Given the description of an element on the screen output the (x, y) to click on. 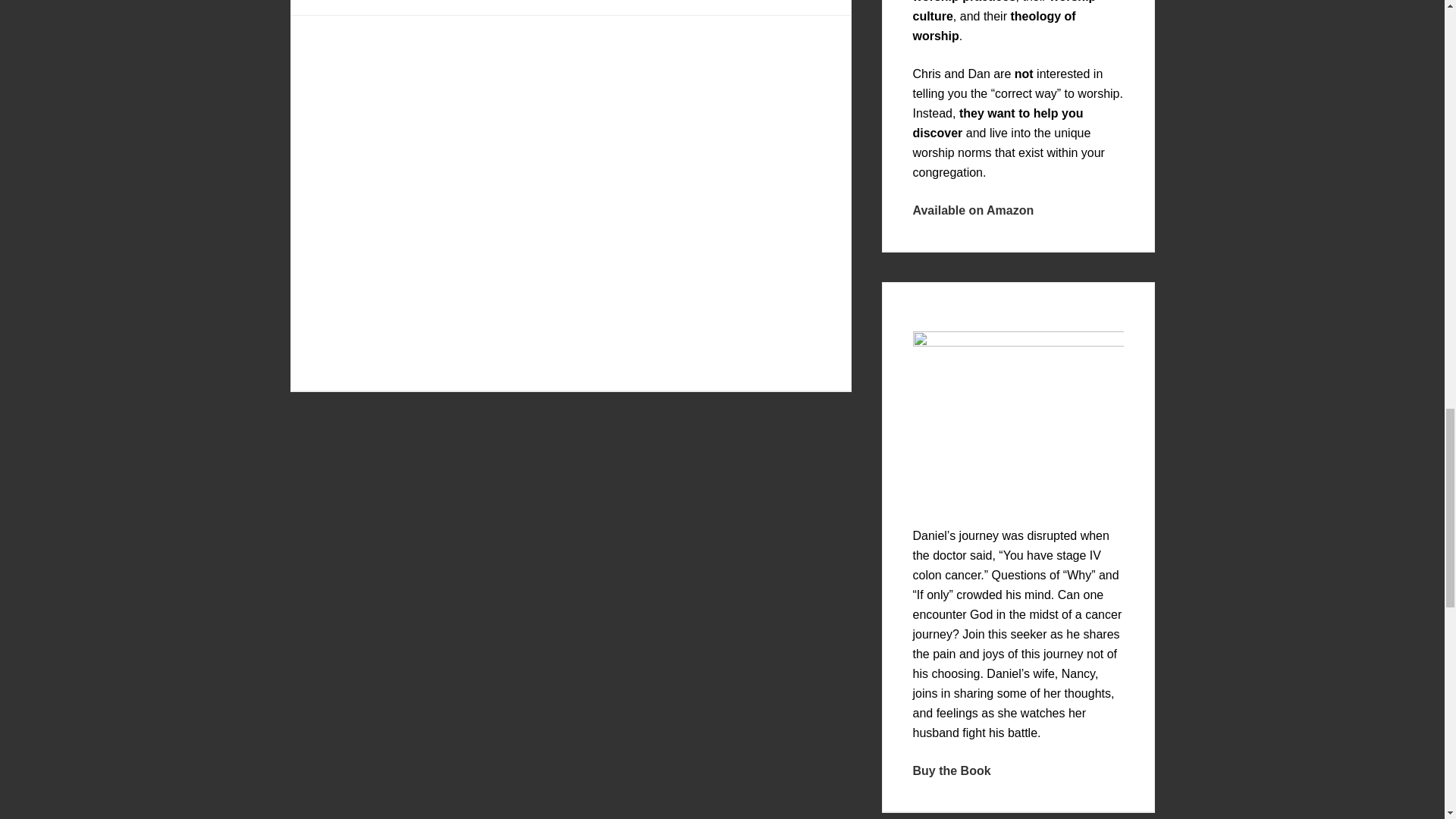
Available on Amazon (972, 209)
Buy the Book (951, 770)
